Given the description of an element on the screen output the (x, y) to click on. 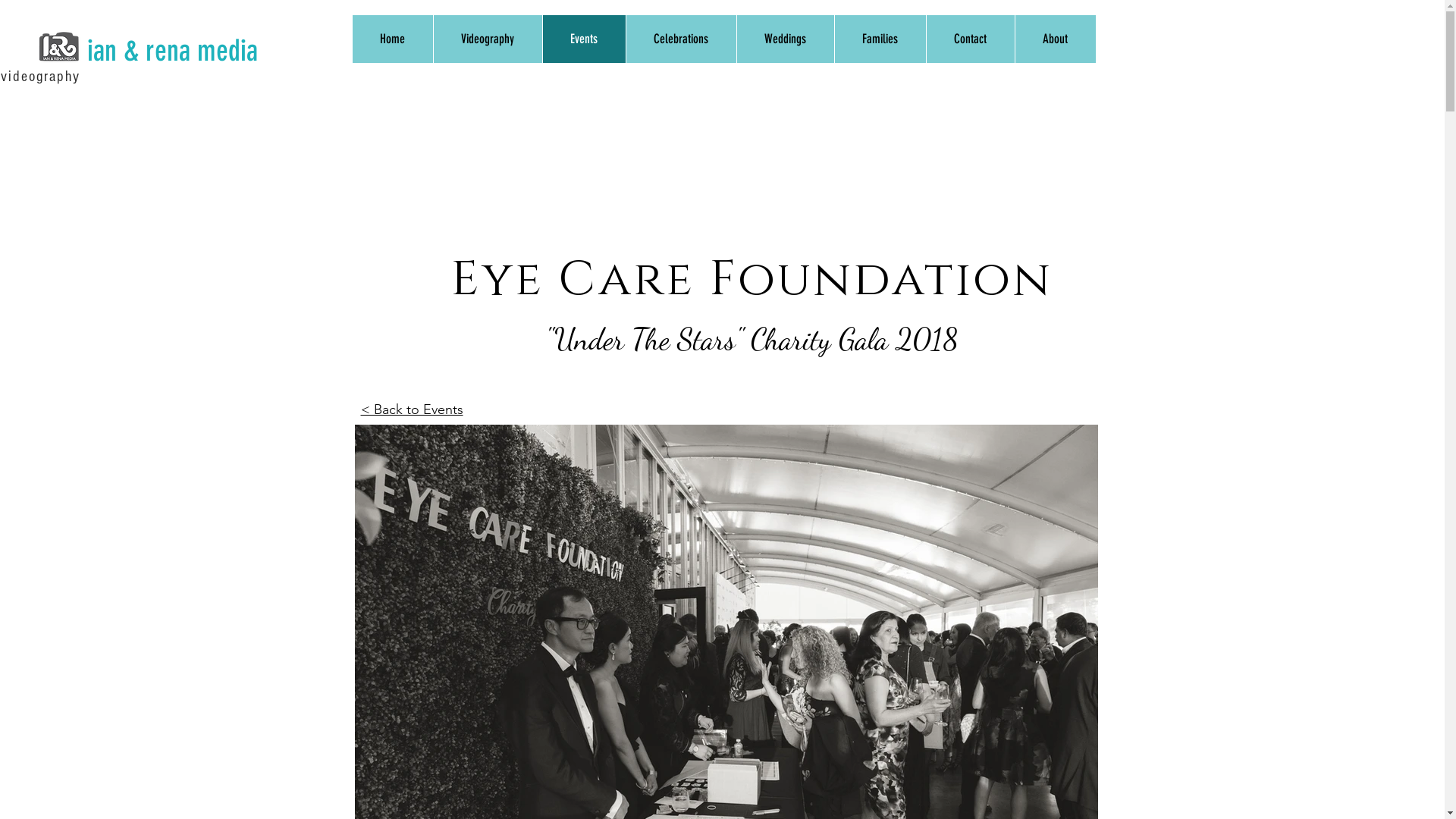
Families Element type: text (879, 38)
Celebrations Element type: text (679, 38)
Weddings Element type: text (784, 38)
< Back to Events Element type: text (411, 409)
About Element type: text (1054, 38)
ian & rena media Element type: text (172, 50)
Events Element type: text (582, 38)
Videography Element type: text (486, 38)
Contact Element type: text (969, 38)
Home Element type: text (391, 38)
